Given the description of an element on the screen output the (x, y) to click on. 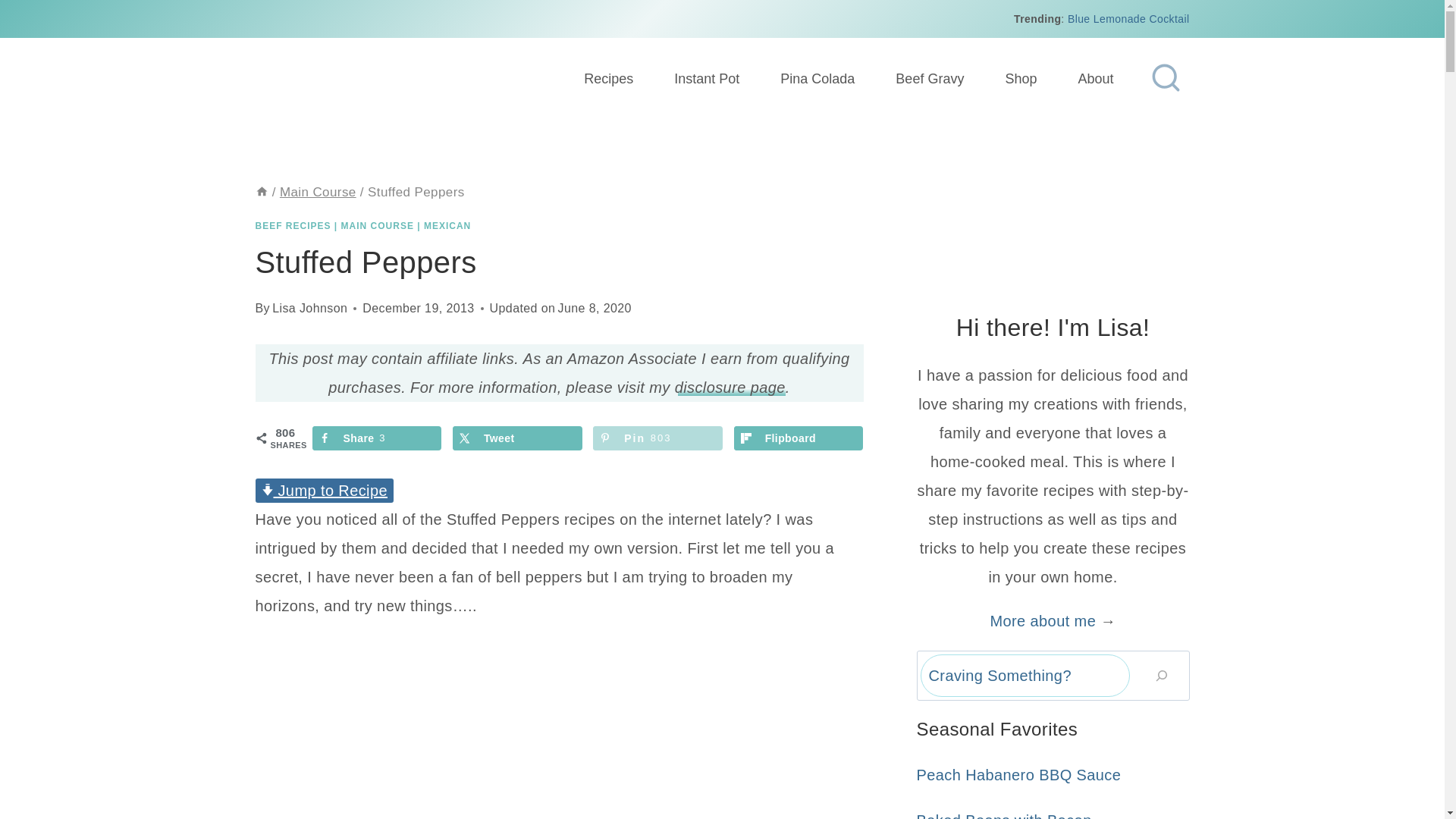
Jump to Recipe (323, 490)
Shop (1020, 78)
Lisa Johnson (377, 437)
Share on Flipboard (309, 308)
disclosure page (798, 437)
Share on X (730, 387)
Blue Lemonade Cocktail (517, 437)
Share on Facebook (1128, 19)
Recipes (377, 437)
